Given the description of an element on the screen output the (x, y) to click on. 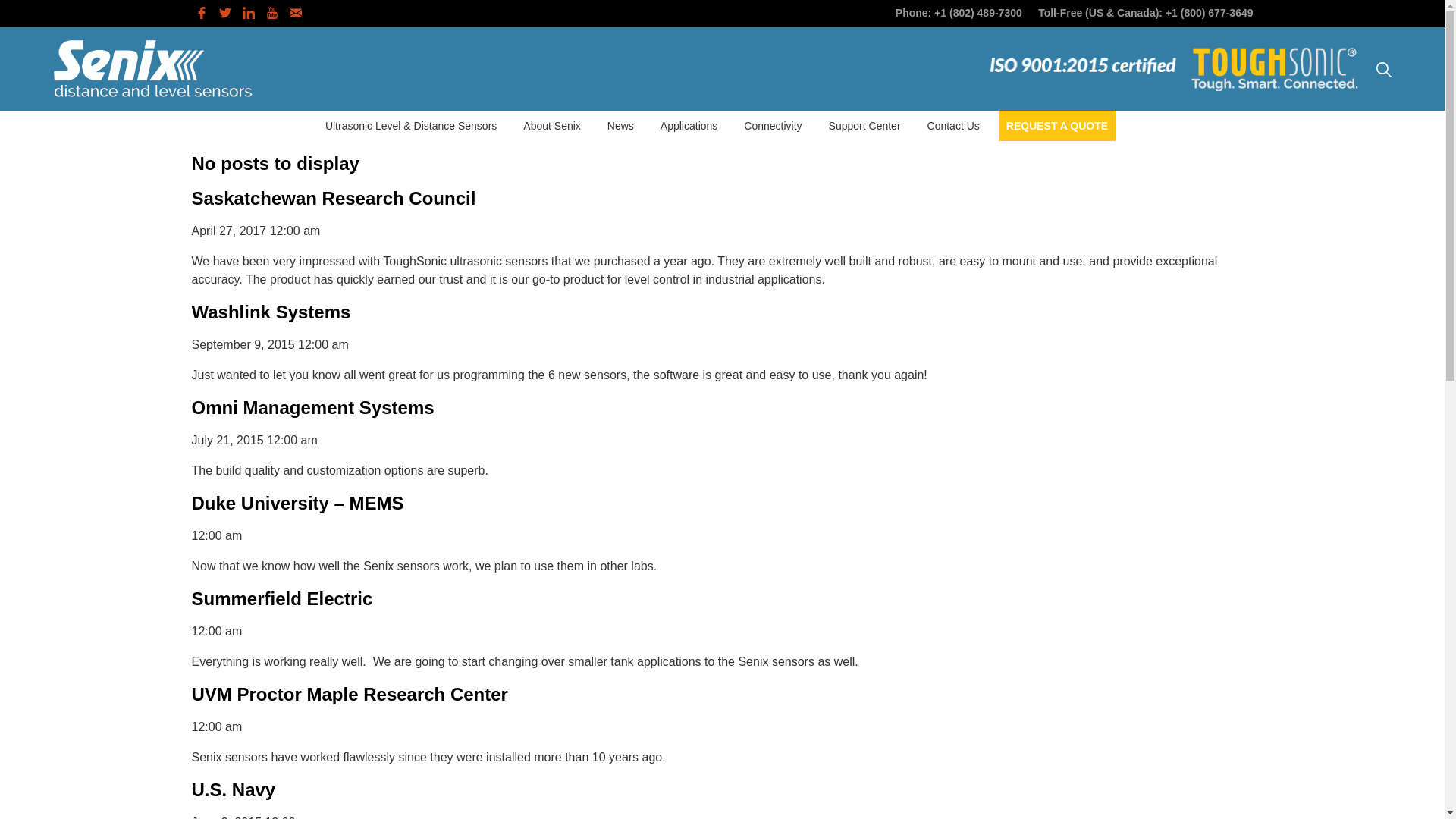
Permalink to Omni Management Systems (311, 407)
News (620, 125)
Permalink to Washlink Systems (270, 312)
ISO 9001:2015 Certified (1082, 64)
Tough Sonic (1275, 68)
Permalink to Saskatchewan Research Council (333, 198)
18024897300 (978, 11)
About Senix (551, 125)
18006773649 (1209, 11)
Senix Distance and Level Sensors (151, 68)
Permalink to U.S. Navy (232, 789)
Permalink to UVM Proctor Maple Research Center (348, 693)
Permalink to Summerfield Electric (281, 598)
